Given the description of an element on the screen output the (x, y) to click on. 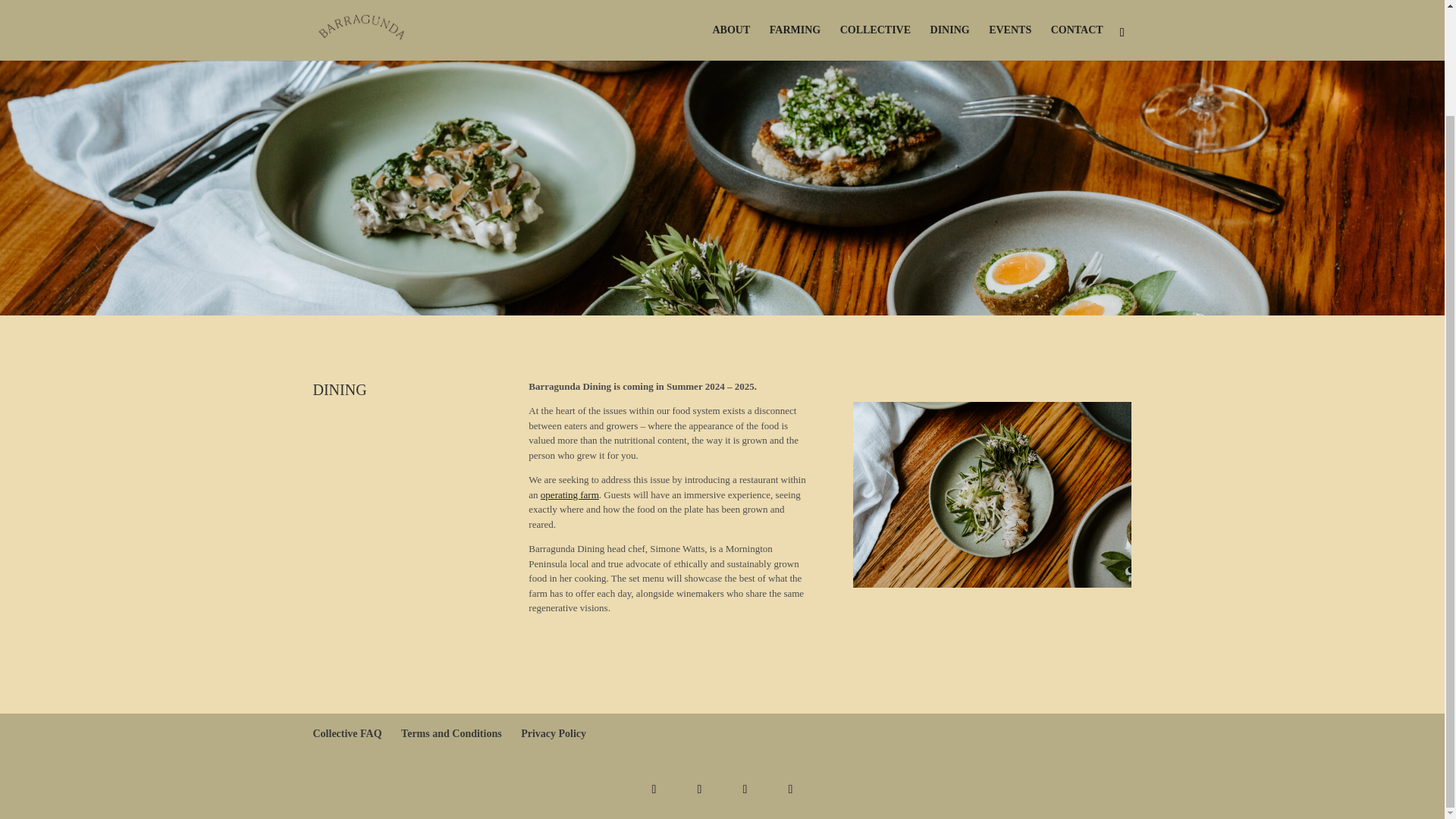
Terms and Conditions (451, 733)
Privacy Policy (553, 733)
HALF MOON BRIGHTON - BARRAGUNDA LUNCH (992, 495)
operating farm (569, 494)
Collective FAQ (347, 733)
